Given the description of an element on the screen output the (x, y) to click on. 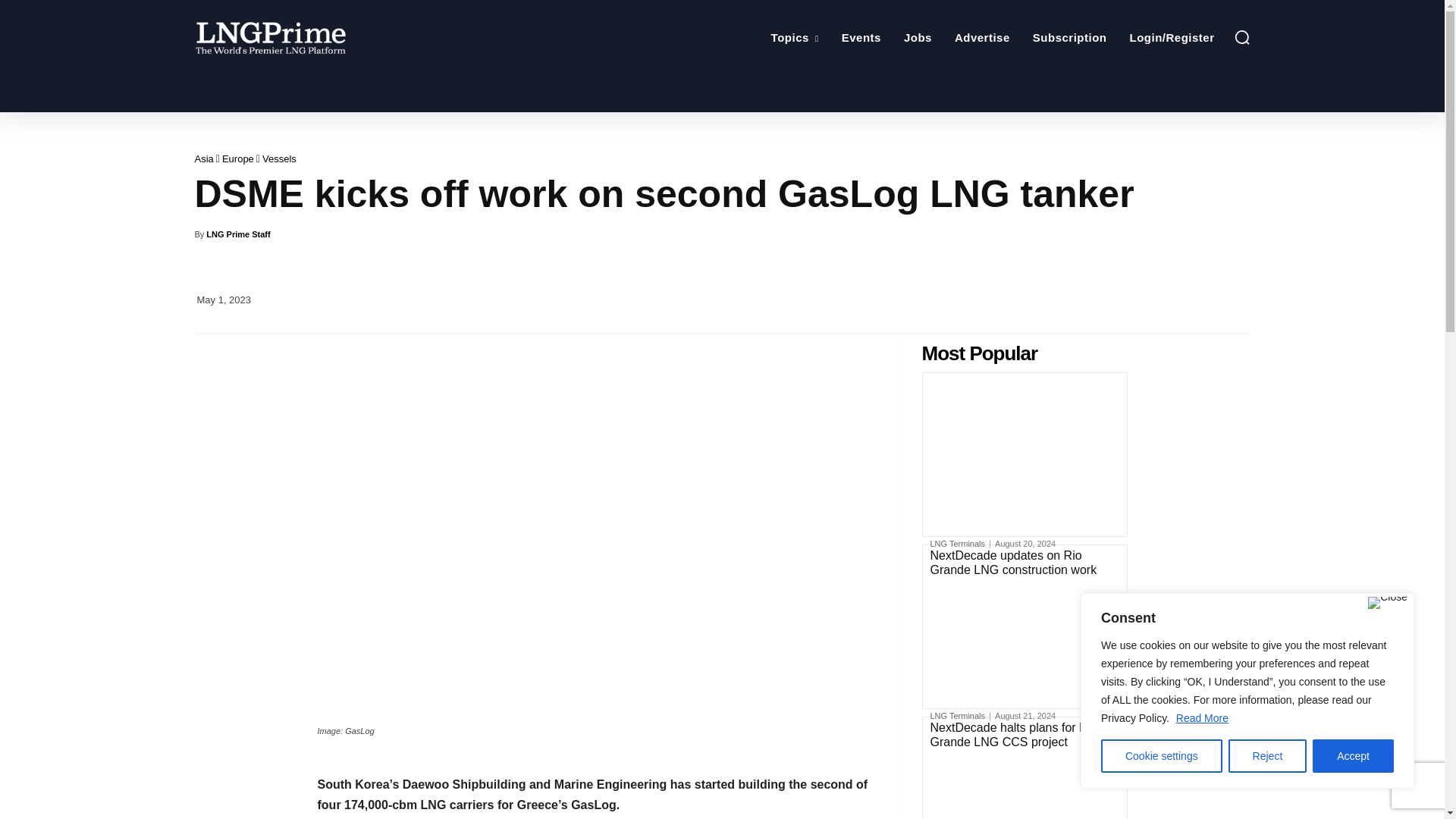
Reject (1267, 756)
Read More (1201, 717)
Cookie settings (1161, 756)
Accept (1353, 756)
